Given the description of an element on the screen output the (x, y) to click on. 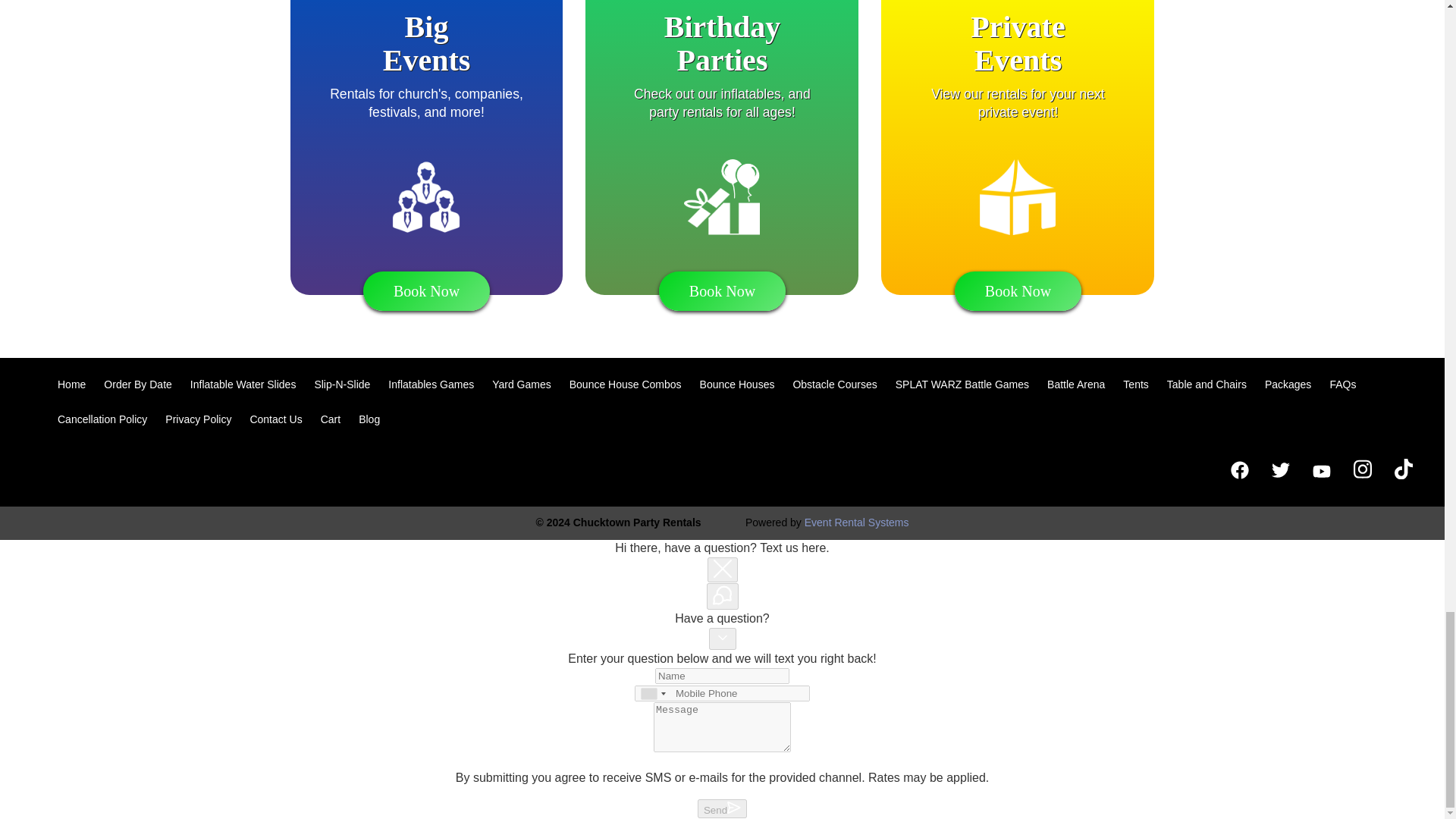
Book Now (1018, 291)
Book Now (722, 291)
Order By Date (137, 384)
Home (71, 384)
Book Now (425, 291)
Chucktown Party Rentals Facebook (1239, 469)
